Given the description of an element on the screen output the (x, y) to click on. 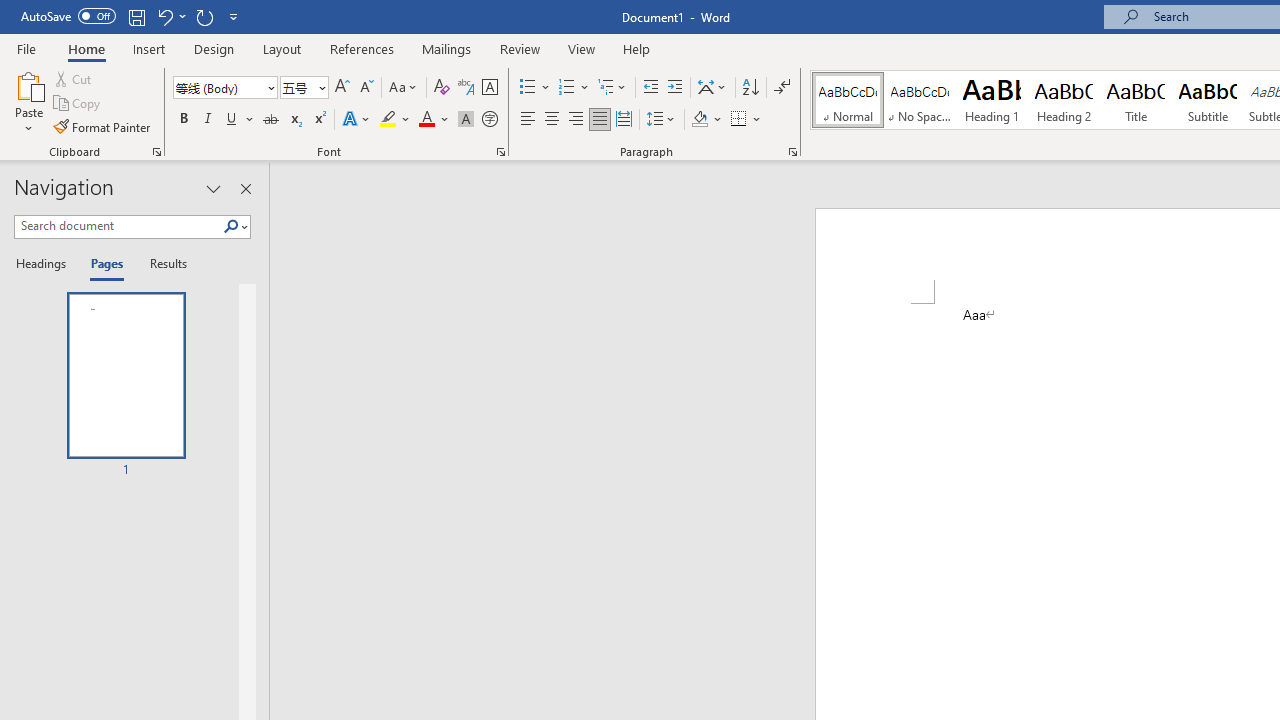
Font Color Red (426, 119)
